Given the description of an element on the screen output the (x, y) to click on. 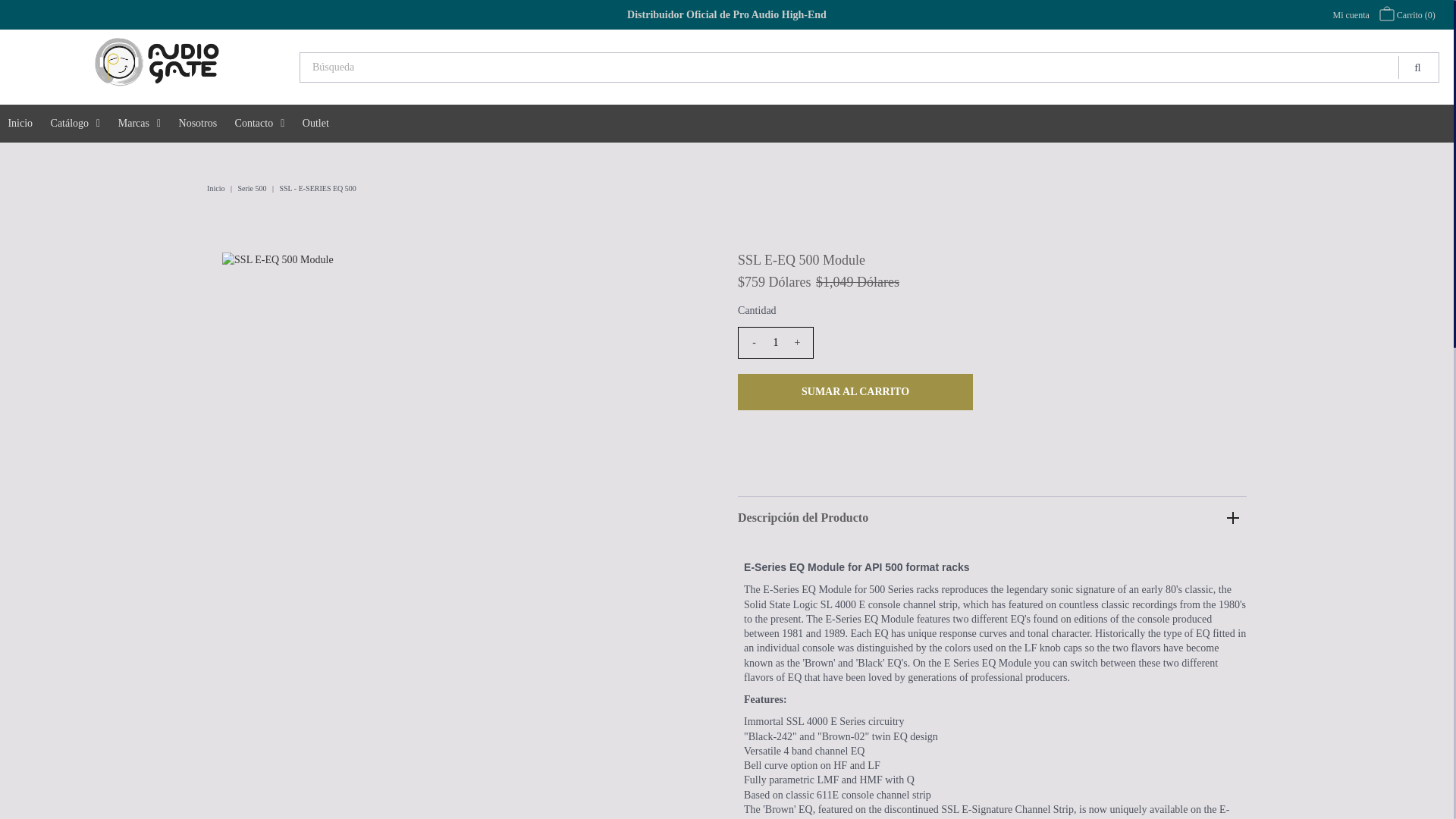
Inicio (217, 188)
Sumar al Carrito (855, 391)
Serie 500 (253, 188)
